Given the description of an element on the screen output the (x, y) to click on. 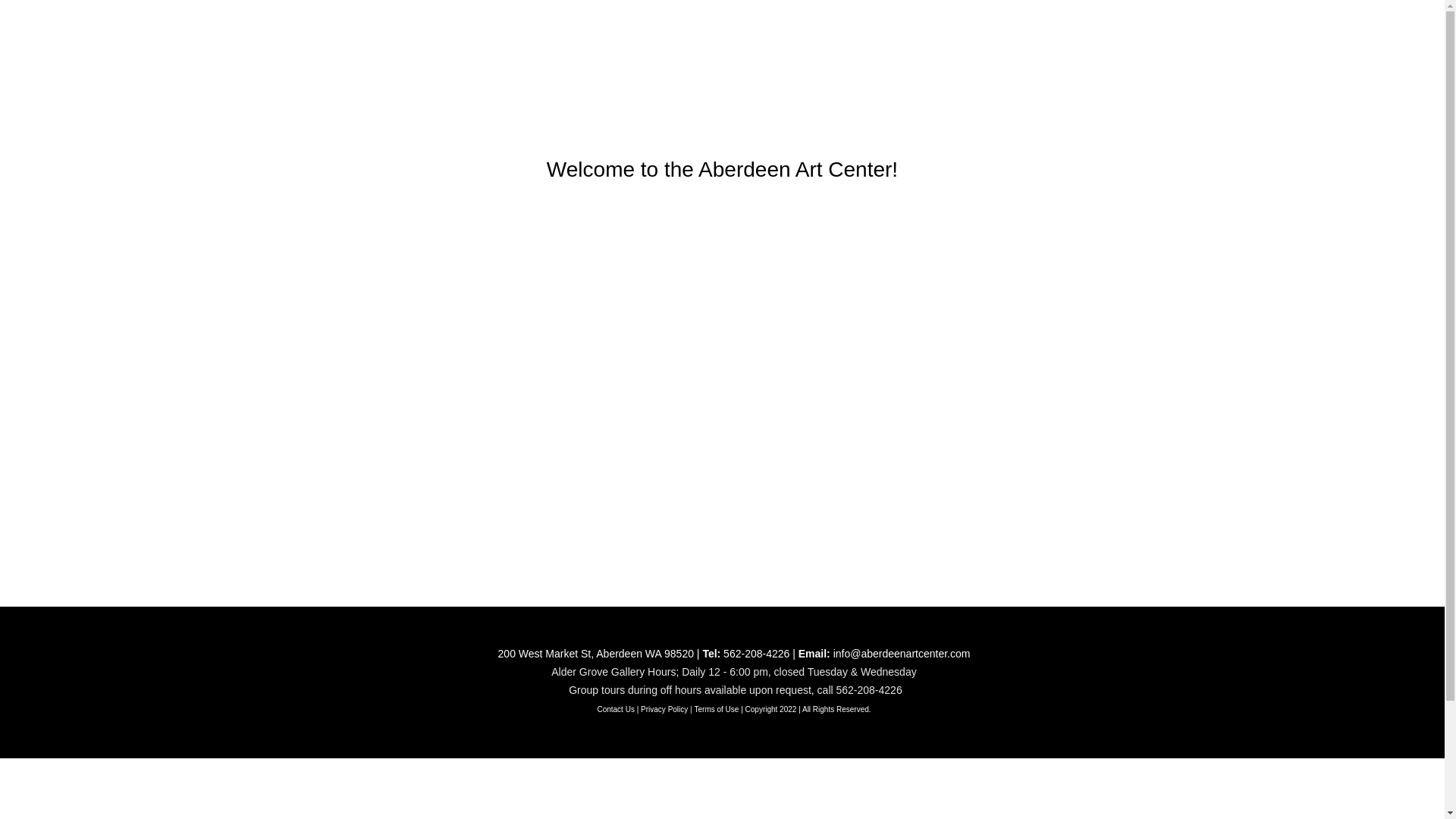
Contact Us (614, 709)
Privacy Policy (663, 709)
Terms of Use (716, 709)
